Given the description of an element on the screen output the (x, y) to click on. 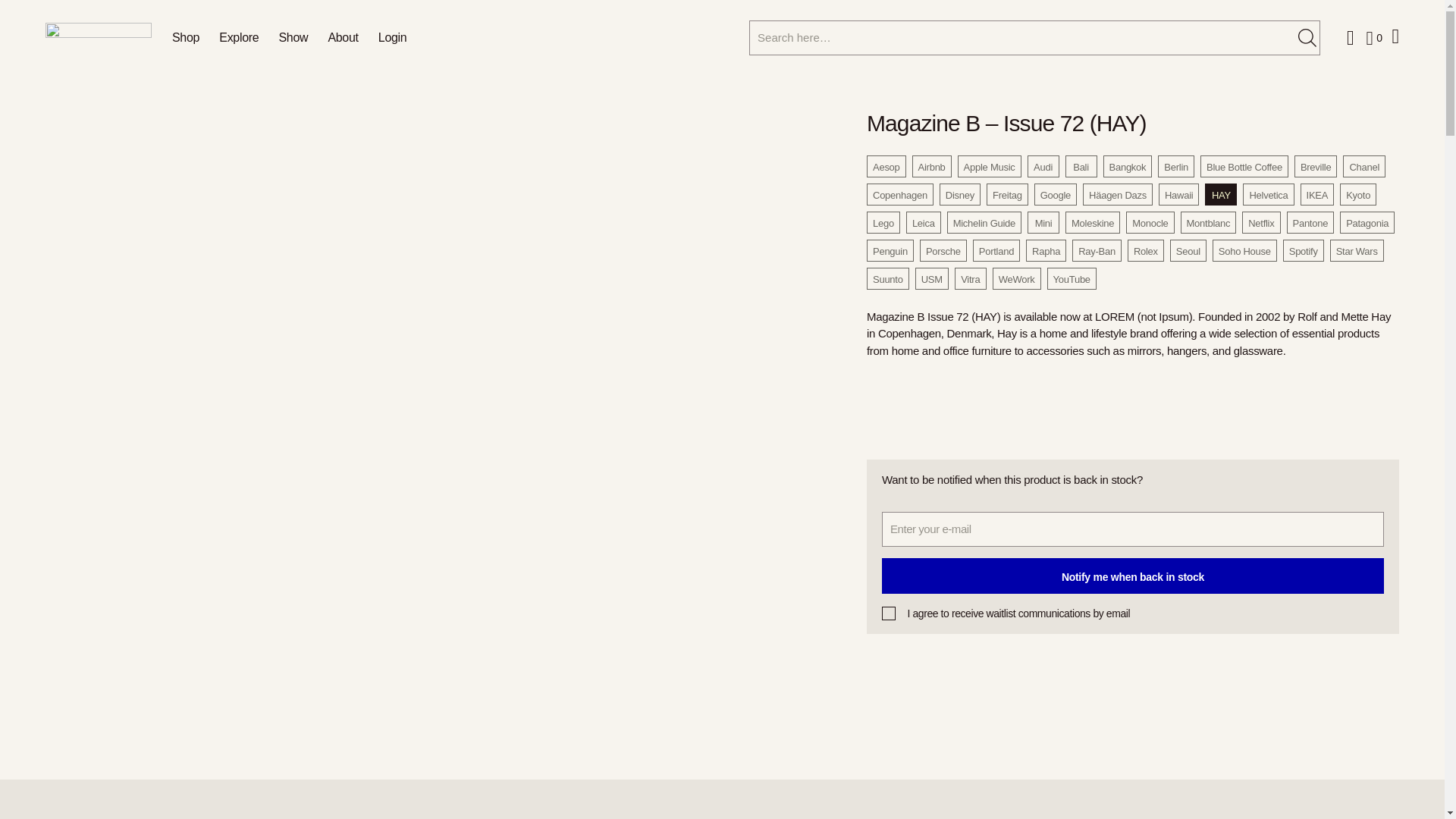
Login (392, 37)
on (888, 612)
Explore (239, 37)
Shop (185, 37)
Show (292, 37)
About (342, 37)
